Given the description of an element on the screen output the (x, y) to click on. 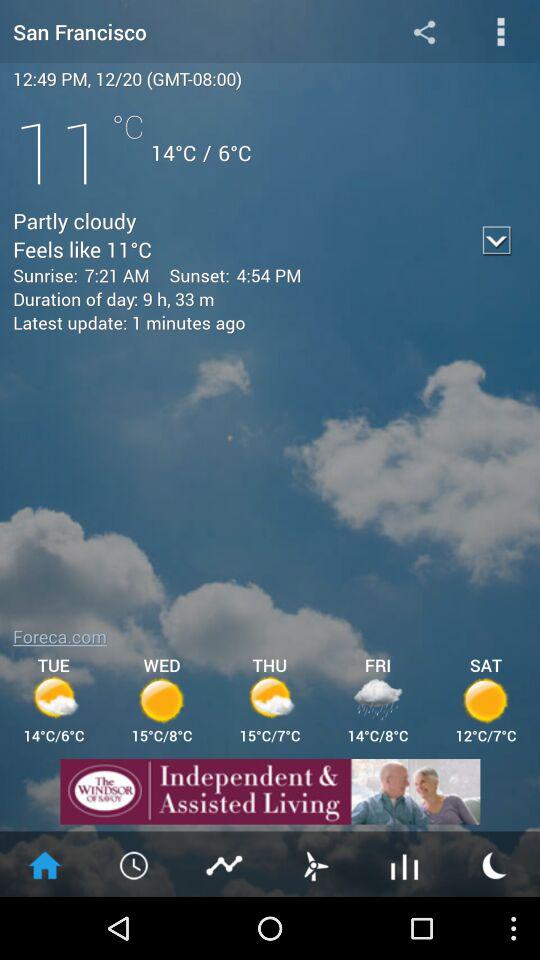
sleep (495, 864)
